Given the description of an element on the screen output the (x, y) to click on. 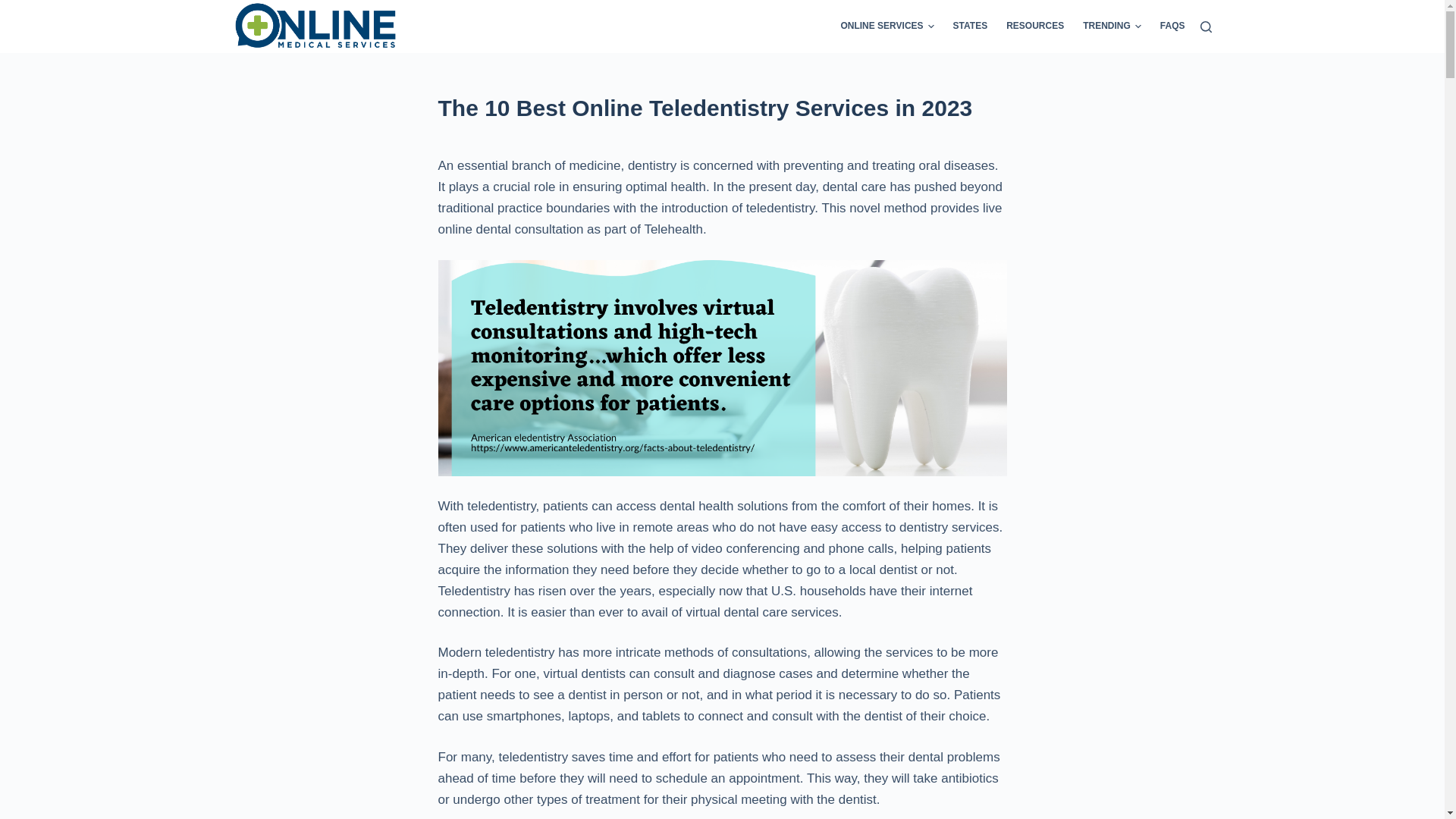
RESOURCES (1035, 26)
ONLINE SERVICES (891, 26)
STATES (970, 26)
The 10 Best Online Teledentistry Services in 2023 (722, 107)
TRENDING (1112, 26)
Skip to content (15, 7)
